Given the description of an element on the screen output the (x, y) to click on. 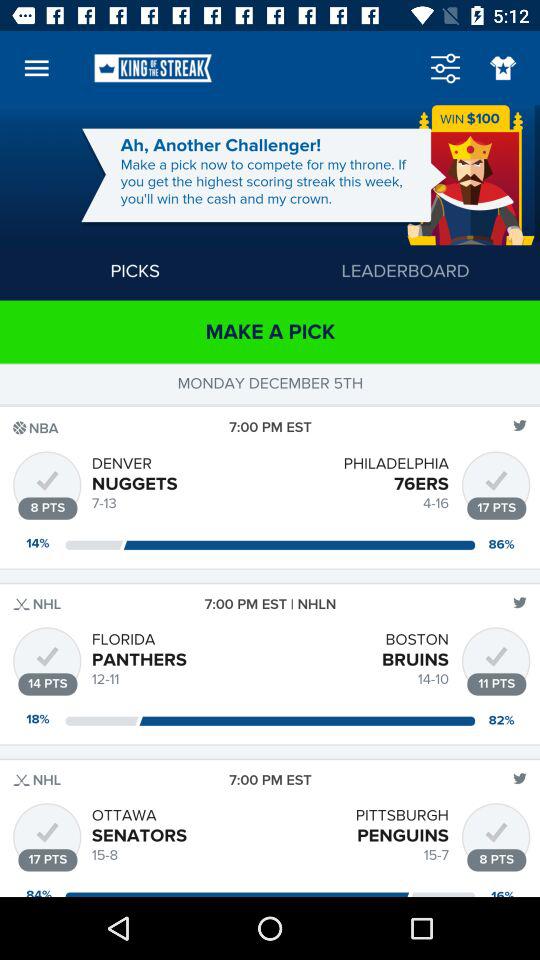
feature settings (445, 68)
